Given the description of an element on the screen output the (x, y) to click on. 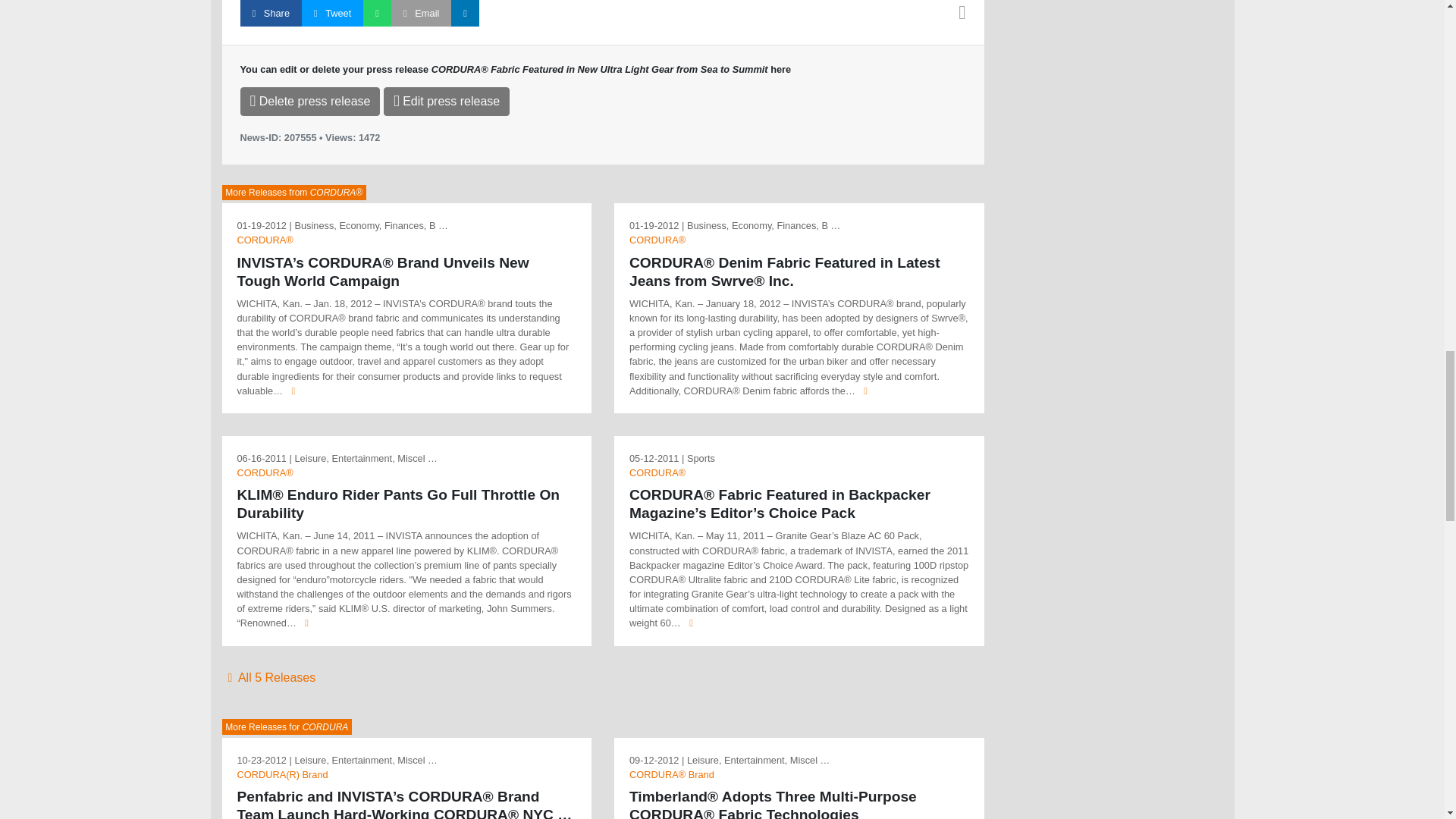
Email (421, 13)
Facebook (270, 13)
LinkedIn (465, 13)
WhatsApp (376, 13)
Leisure, Entertainment, Miscellaneous (365, 458)
Sports (700, 458)
